Given the description of an element on the screen output the (x, y) to click on. 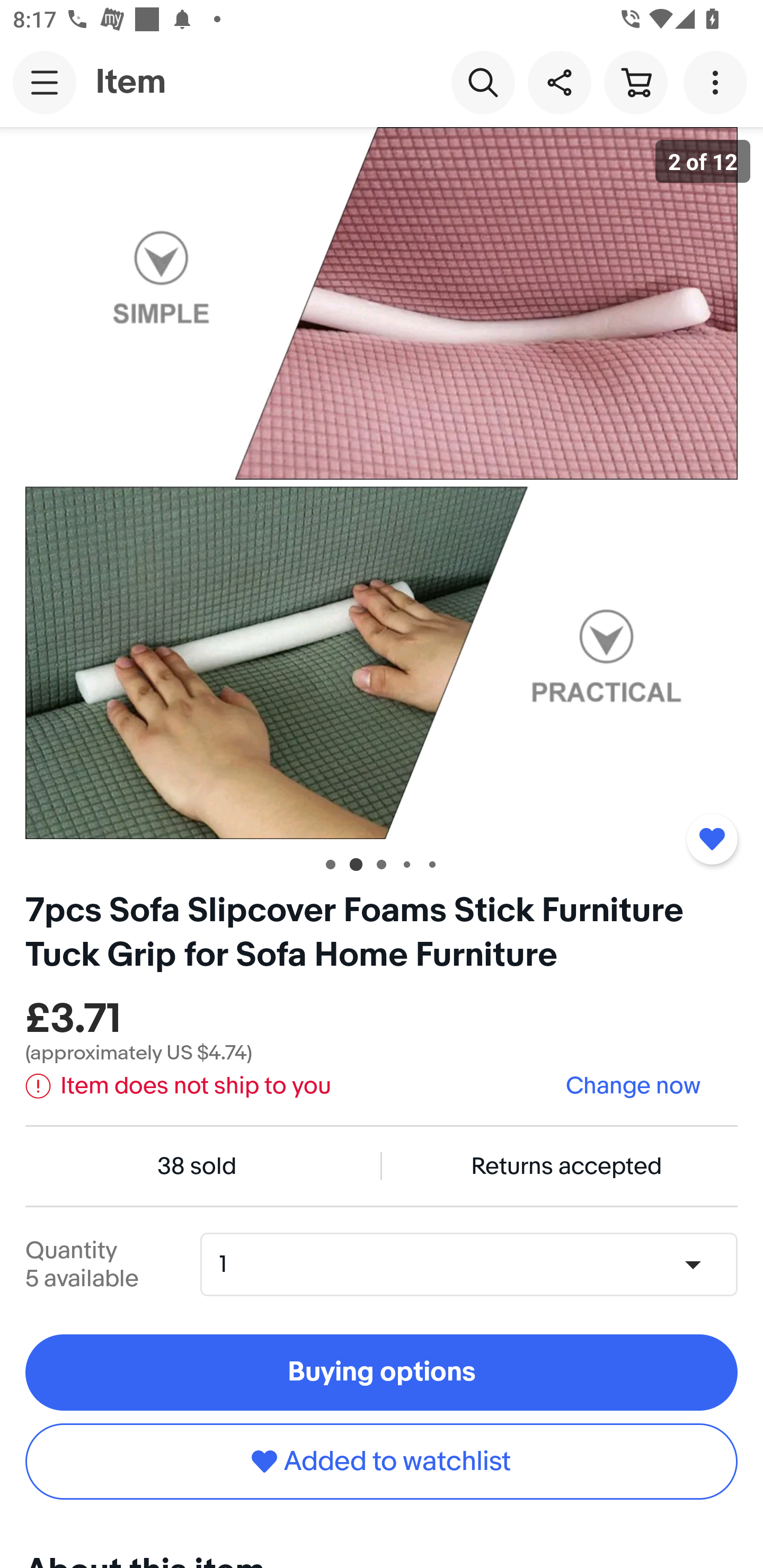
Main navigation, open (44, 82)
Search (482, 81)
Share this item (559, 81)
Cart button shopping cart (635, 81)
More options (718, 81)
Item image 2 of 12 (381, 482)
Added to watchlist (711, 838)
Quantity,1,5 available 1 (474, 1264)
Buying options (381, 1372)
Added to watchlist (381, 1461)
